Given the description of an element on the screen output the (x, y) to click on. 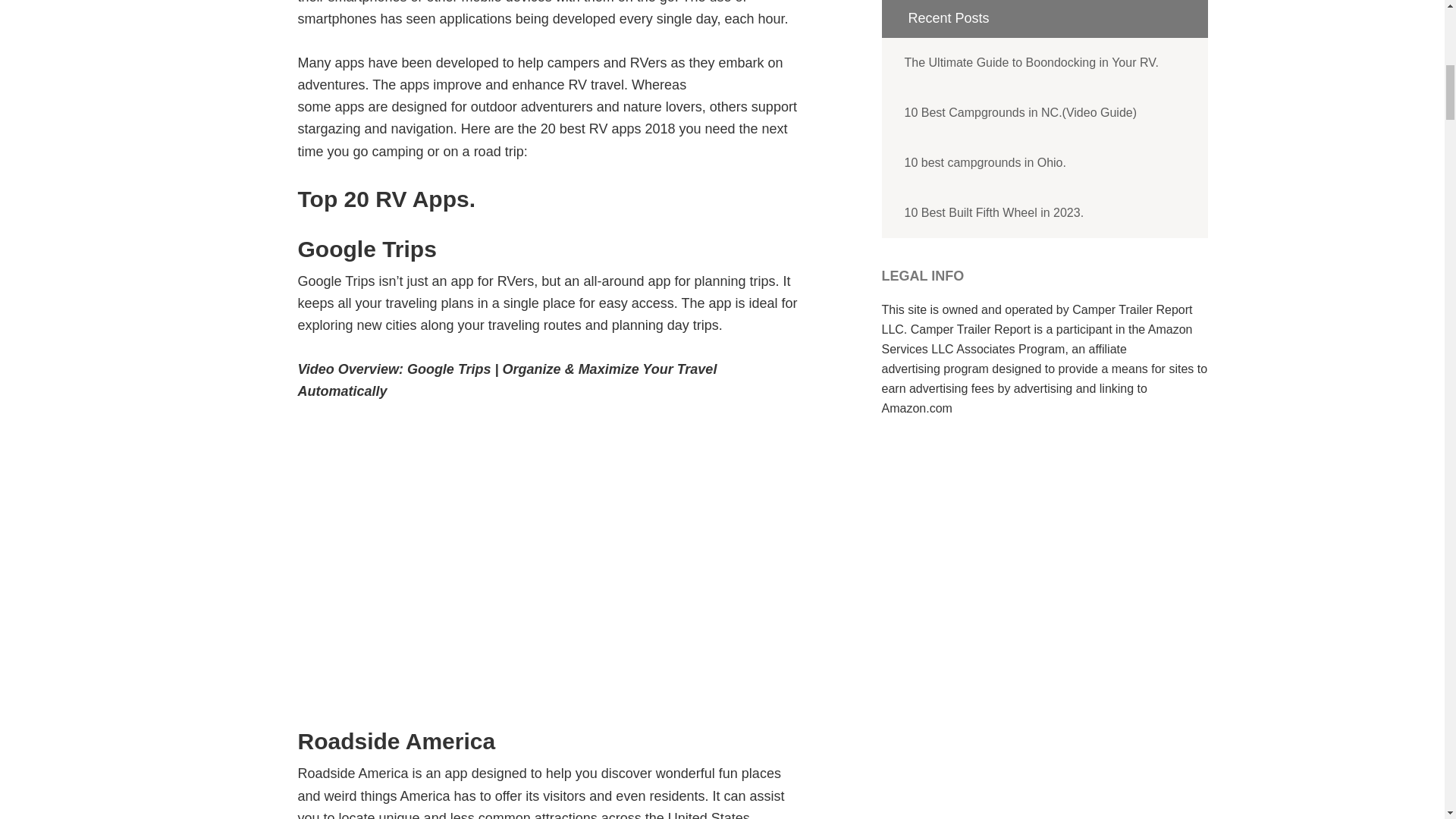
The Ultimate Guide to Boondocking in Your RV. (1043, 62)
10 Best Built Fifth Wheel in 2023. (1043, 213)
10 best campgrounds in Ohio. (1043, 163)
